Given the description of an element on the screen output the (x, y) to click on. 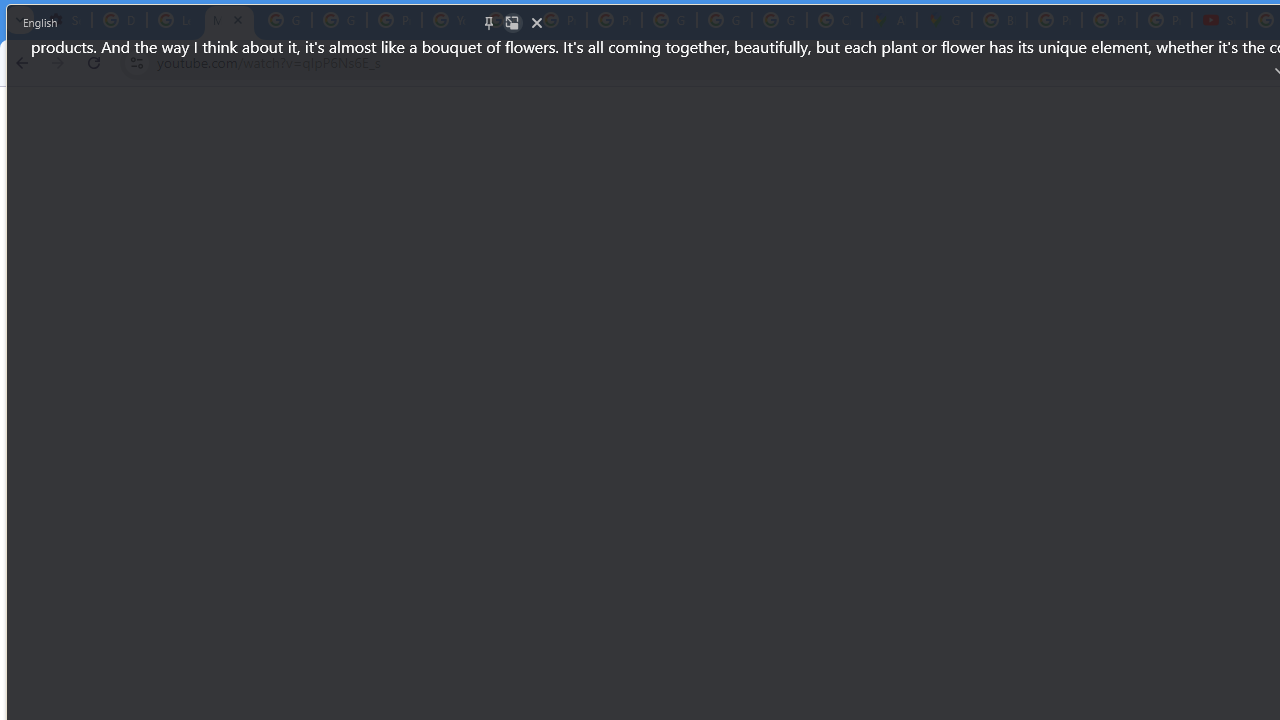
Learn how to find your photos - Google Photos Help (174, 20)
Privacy Help Center - Policies Help (559, 20)
Privacy Help Center - Policies Help (1053, 20)
Privacy Help Center - Policies Help (1108, 20)
Create your Google Account (833, 20)
YouTube (449, 20)
Subscriptions - YouTube (1218, 20)
